Given the description of an element on the screen output the (x, y) to click on. 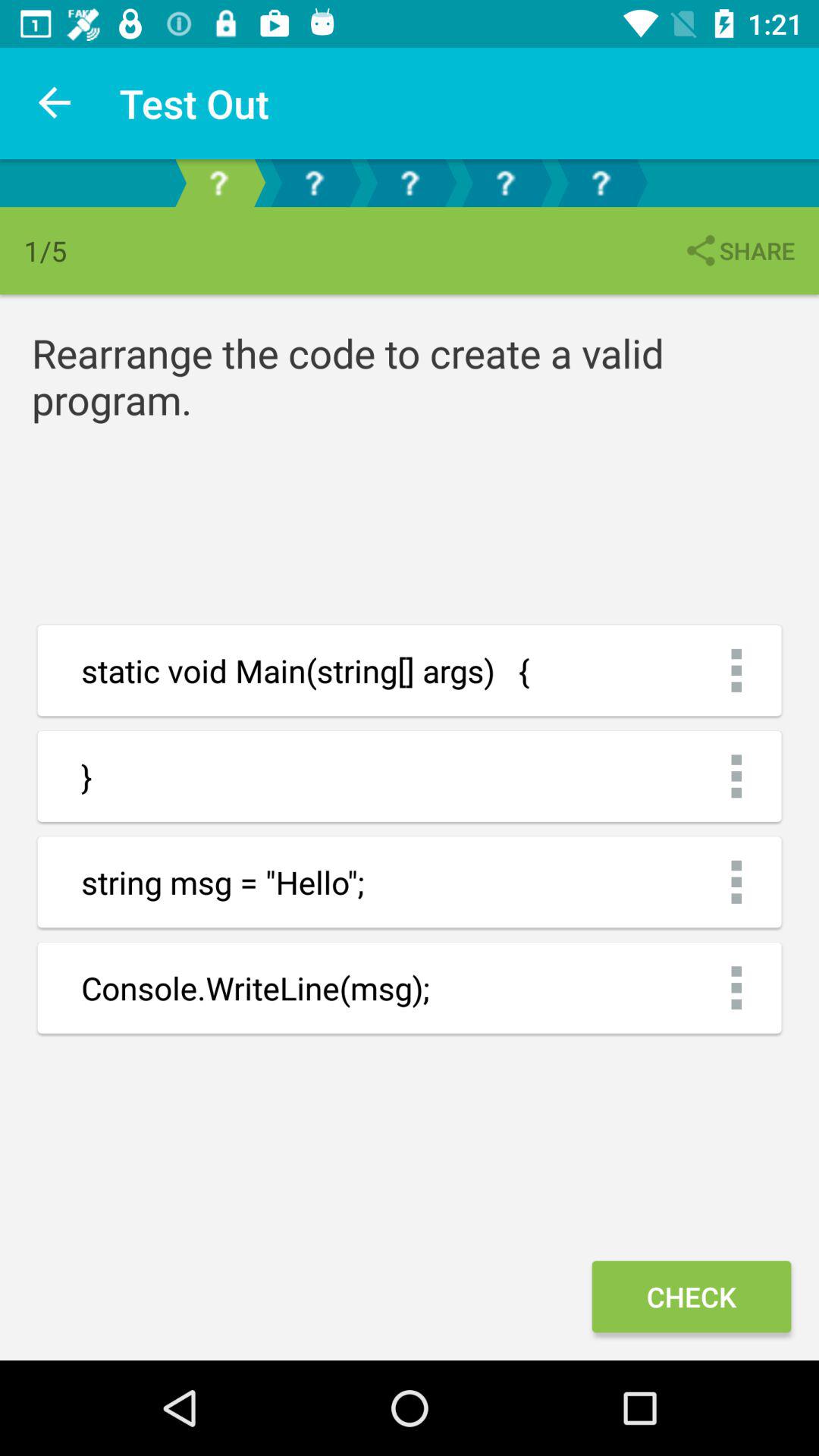
select that (504, 183)
